Given the description of an element on the screen output the (x, y) to click on. 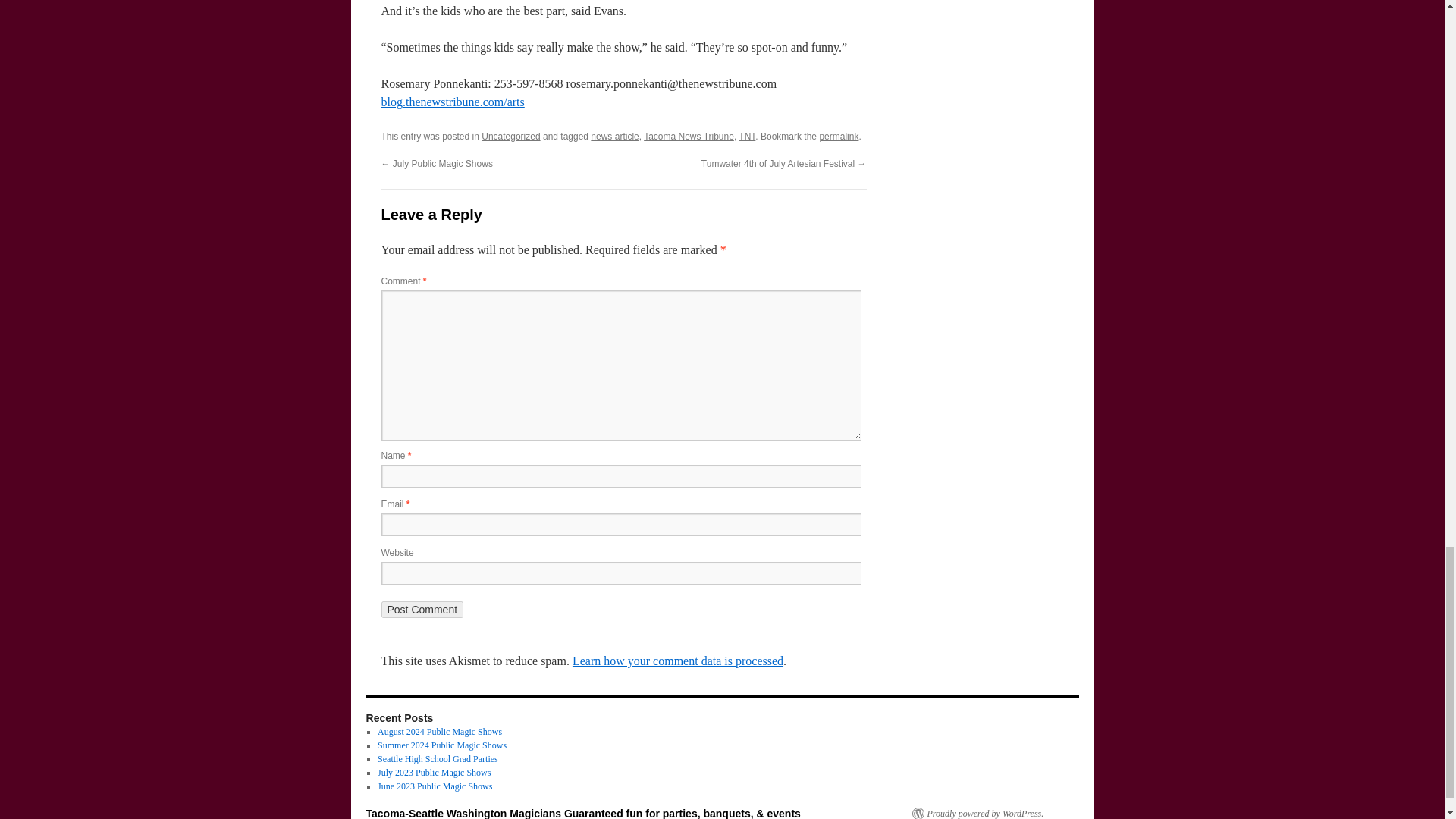
Uncategorized (510, 136)
news article (615, 136)
Tacoma News Tribune (688, 136)
Post Comment (421, 609)
Permalink to The Business and Art of Magic (838, 136)
